Given the description of an element on the screen output the (x, y) to click on. 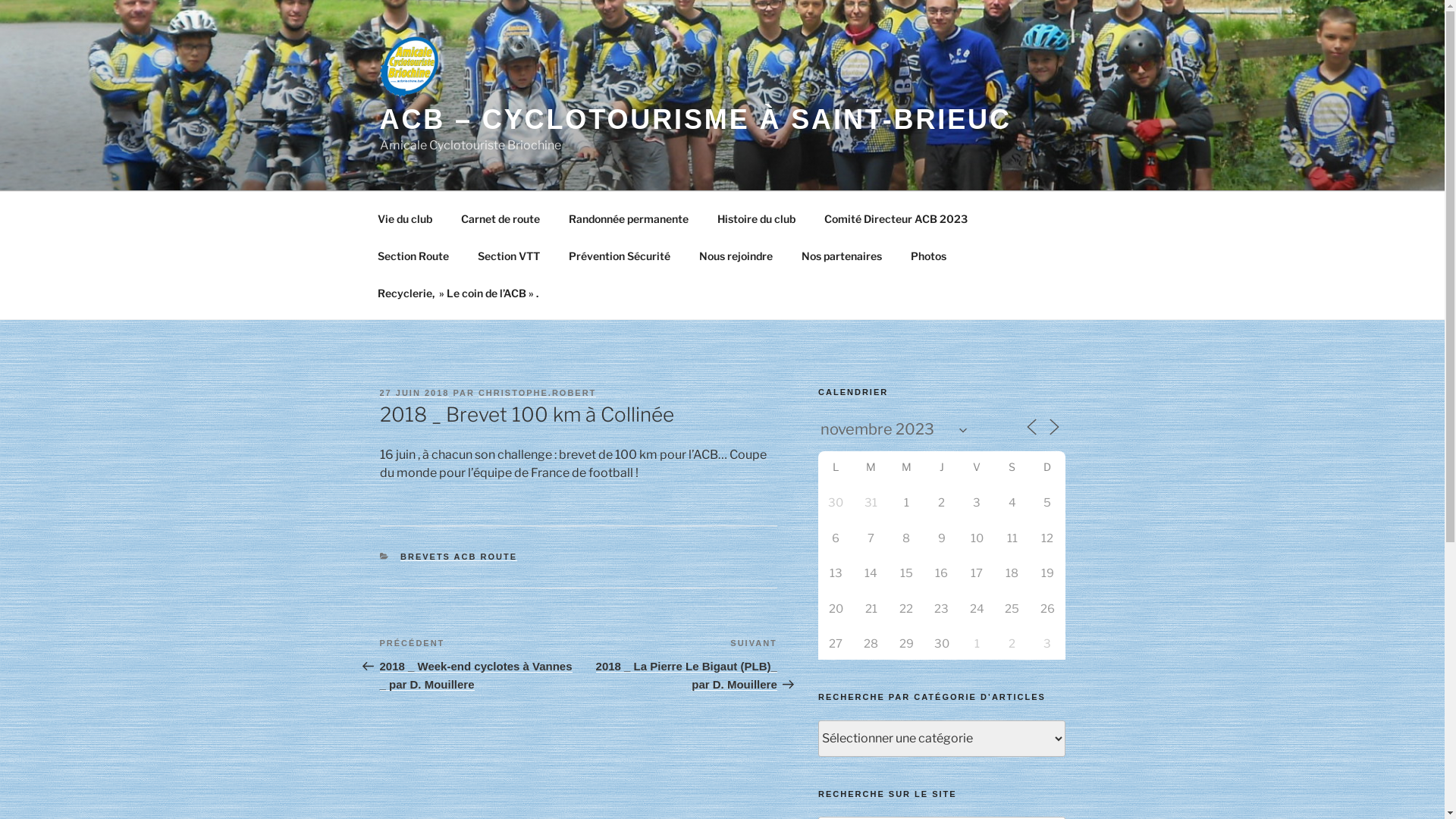
Photos Element type: text (928, 254)
Section Route Element type: text (412, 254)
Vie du club Element type: text (404, 218)
Nos partenaires Element type: text (841, 254)
Section VTT Element type: text (508, 254)
BREVETS ACB ROUTE Element type: text (458, 556)
CHRISTOPHE.ROBERT Element type: text (537, 392)
27 JUIN 2018 Element type: text (413, 392)
Carnet de route Element type: text (499, 218)
Nous rejoindre Element type: text (735, 254)
Histoire du club Element type: text (755, 218)
